Given the description of an element on the screen output the (x, y) to click on. 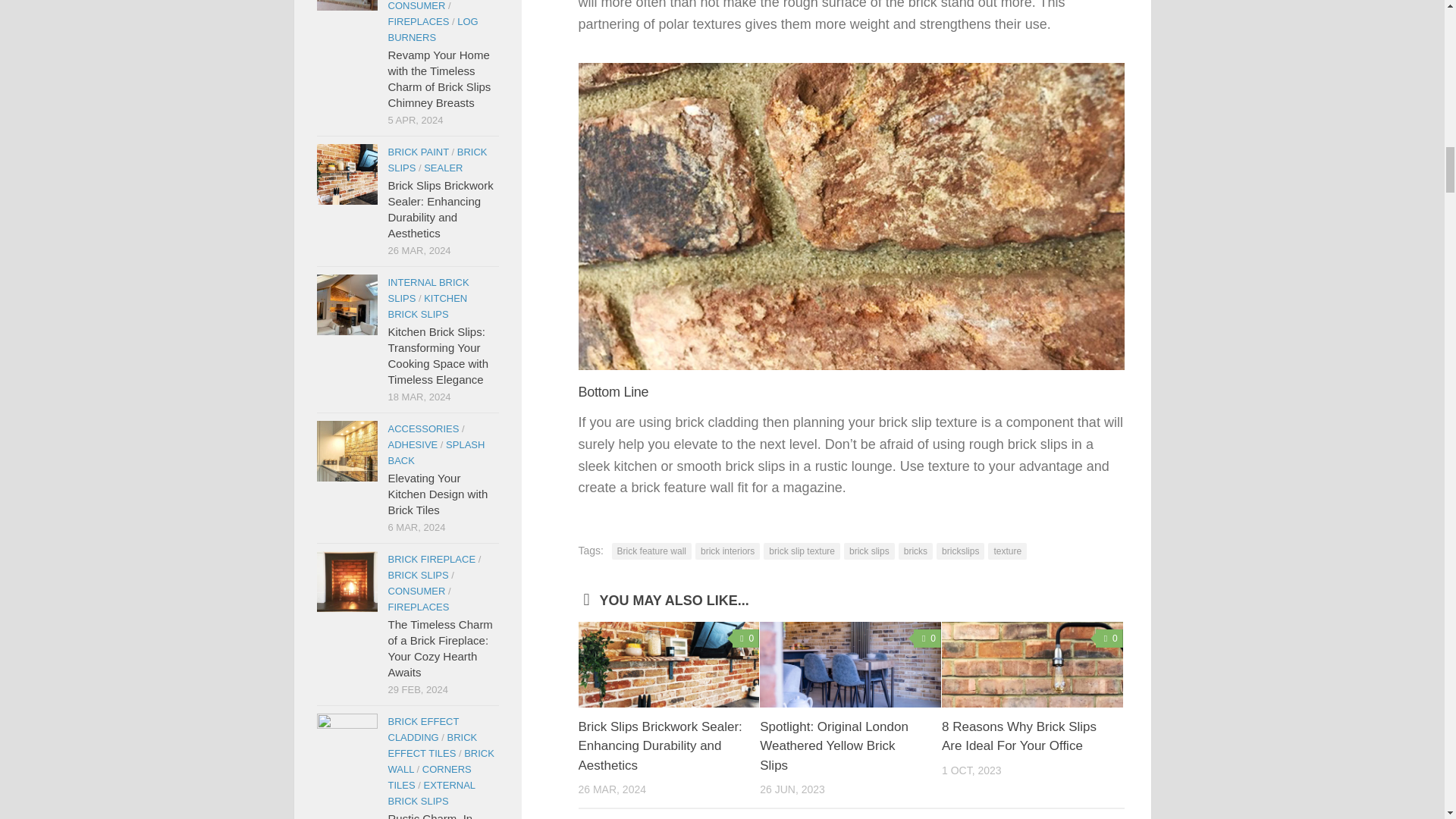
bricks (915, 550)
brickslips (960, 550)
texture (1007, 550)
Brick feature wall (651, 550)
brick interiors (727, 550)
0 (746, 638)
0 (927, 638)
brick slips (869, 550)
brick slip texture (801, 550)
